Given the description of an element on the screen output the (x, y) to click on. 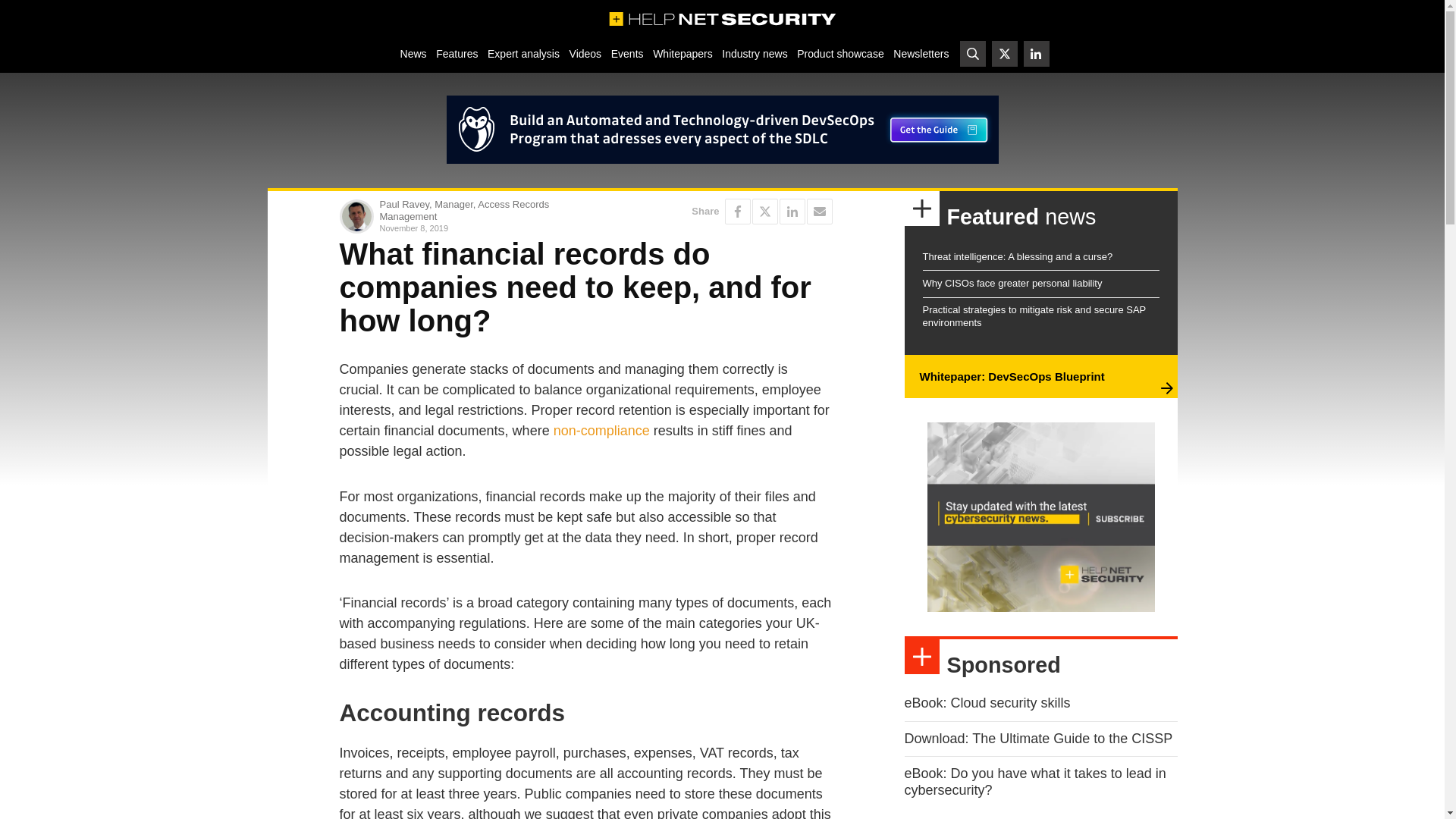
Newsletters (920, 53)
Threat intelligence: A blessing and a curse? (1016, 256)
News (412, 53)
Videos (584, 53)
November 8, 2019 (478, 227)
Events (626, 53)
Whitepapers (682, 53)
non-compliance (601, 430)
Features (456, 53)
Expert analysis (523, 53)
